Given the description of an element on the screen output the (x, y) to click on. 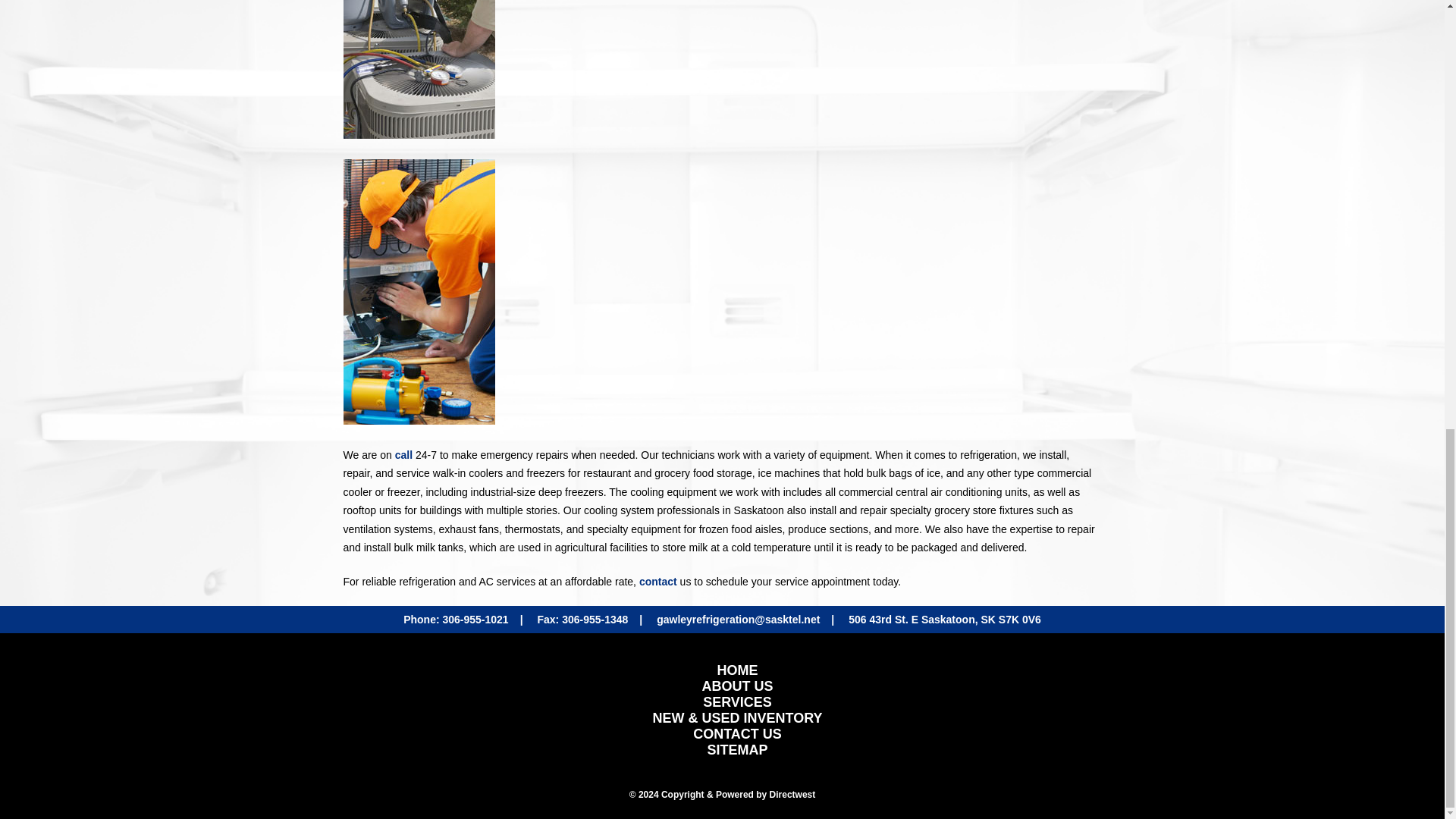
ABOUT US (738, 685)
HOME (737, 670)
call (403, 453)
SITEMAP (737, 749)
Phone: 306-955-1021 (455, 619)
contact (658, 581)
SERVICES (737, 702)
CONTACT US (737, 734)
Fax: 306-955-1348 (582, 619)
